Given the description of an element on the screen output the (x, y) to click on. 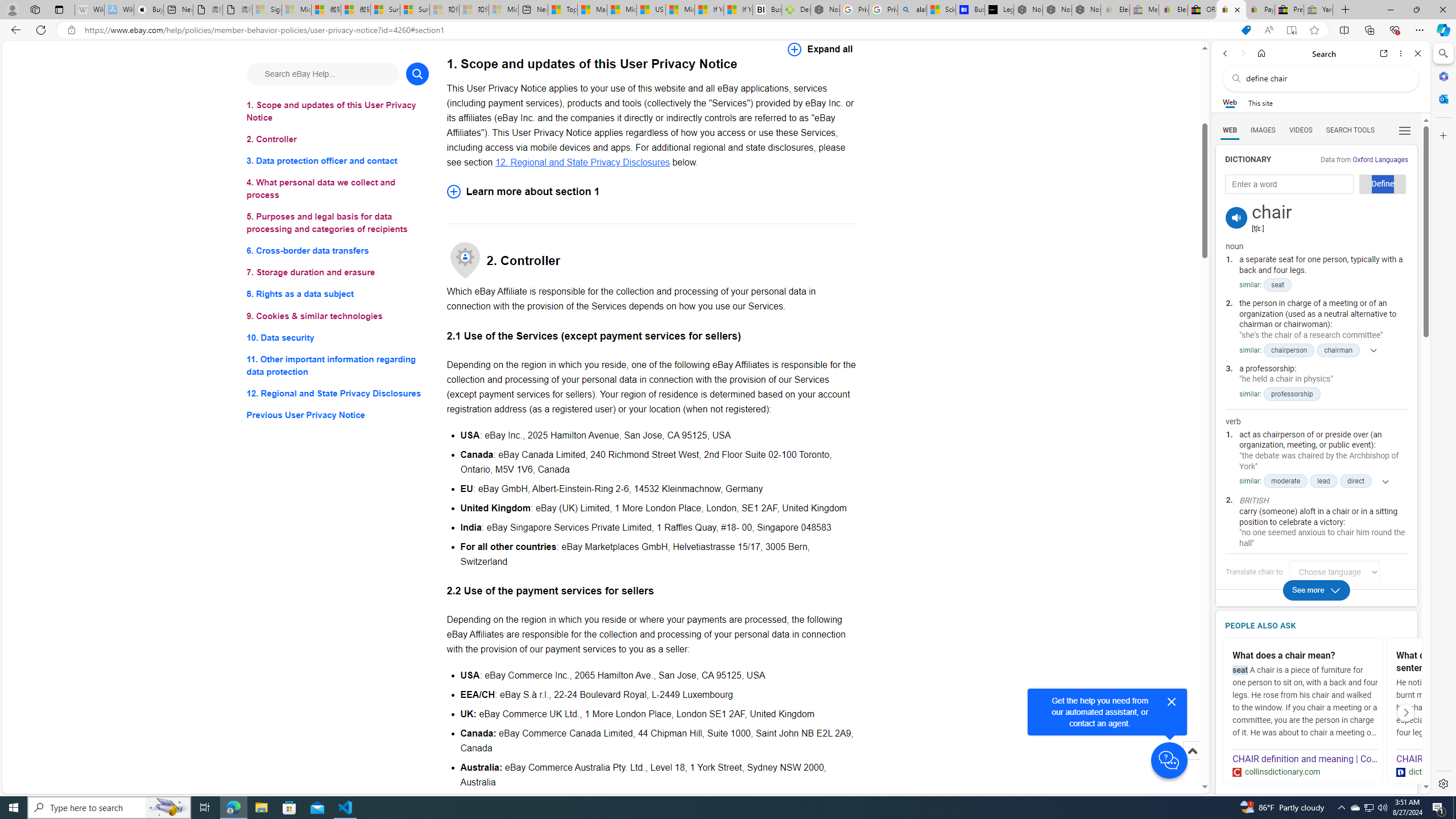
direct (1355, 481)
7. Storage duration and erasure (337, 272)
Scroll to top (1191, 750)
3. Data protection officer and contact (337, 160)
Search eBay Help... (322, 73)
